Given the description of an element on the screen output the (x, y) to click on. 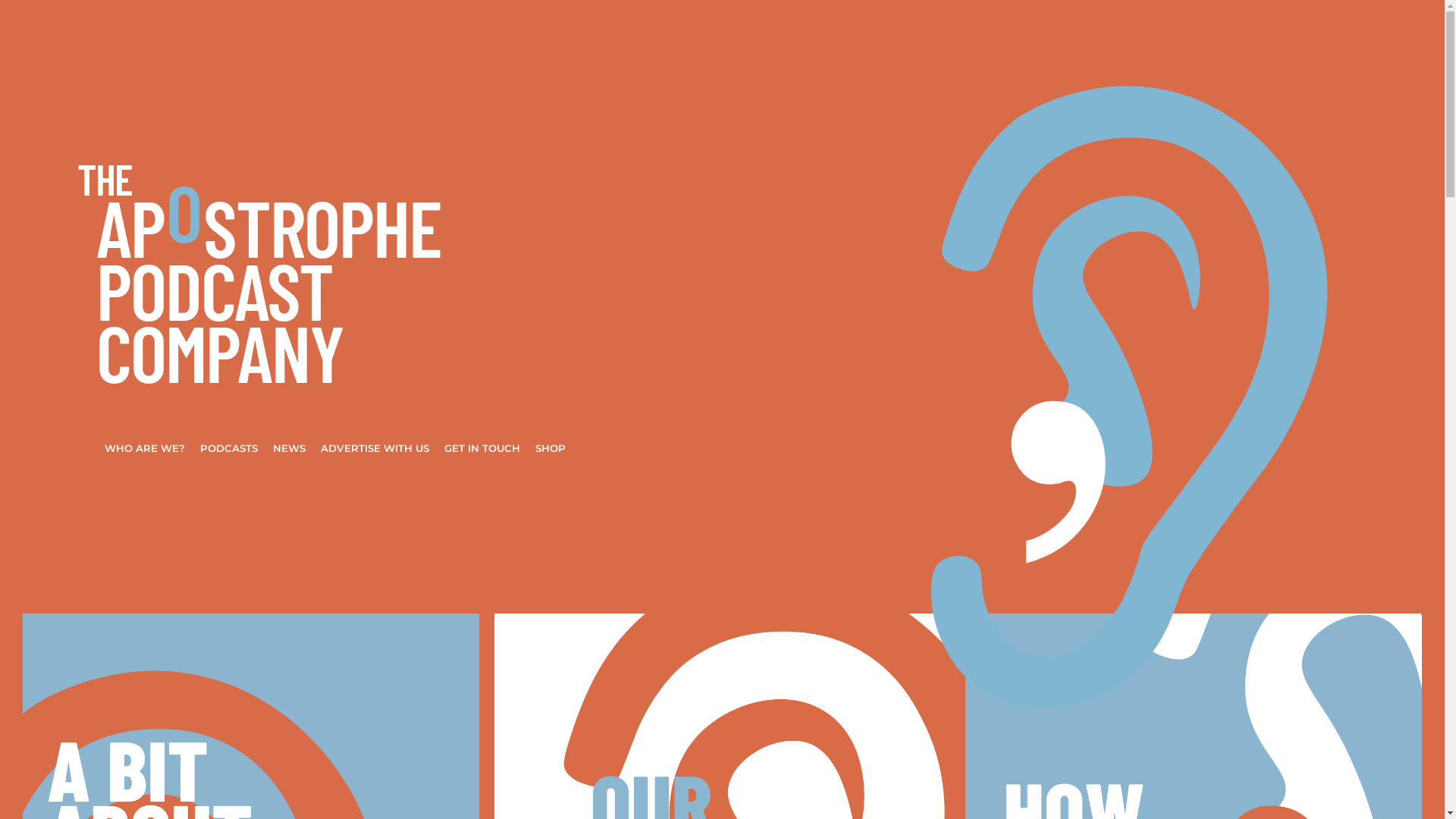
ADVERTISE WITH US Element type: text (374, 447)
NEWS Element type: text (288, 447)
GET IN TOUCH Element type: text (481, 447)
PODCASTS Element type: text (228, 447)
SHOP Element type: text (550, 447)
WHO ARE WE? Element type: text (144, 447)
